Given the description of an element on the screen output the (x, y) to click on. 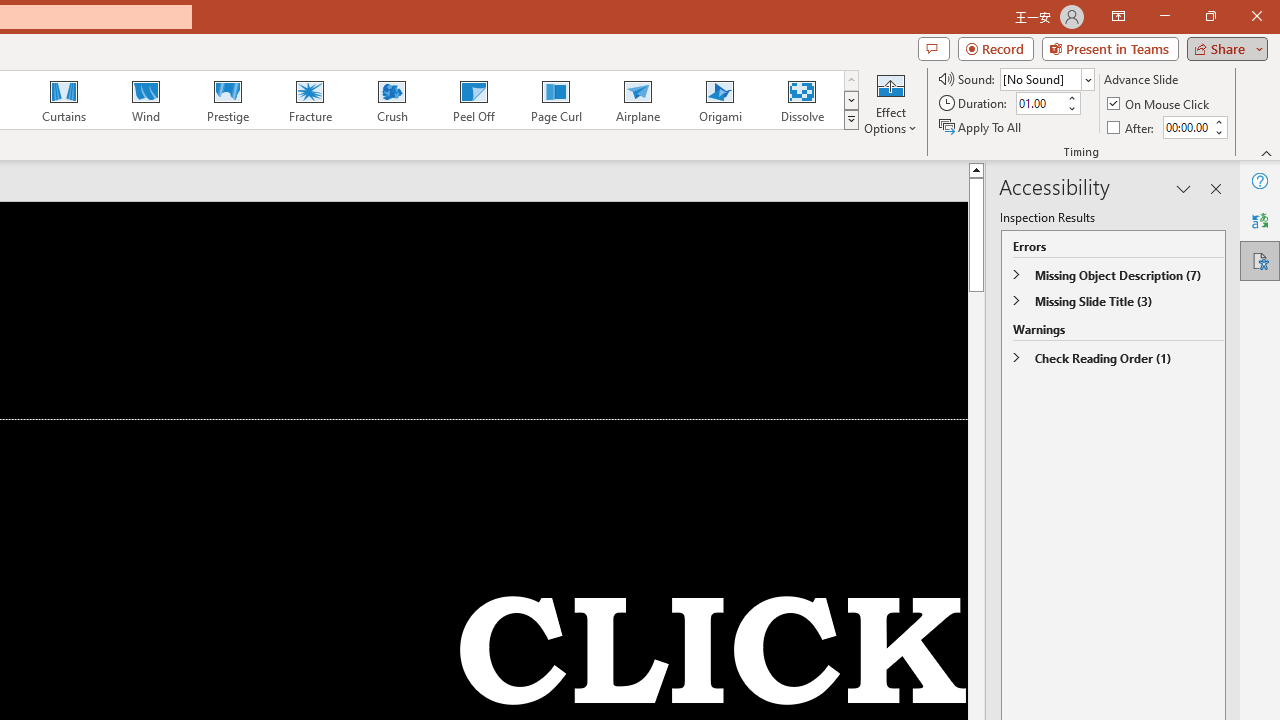
Origami (719, 100)
Page Curl (555, 100)
Wind (145, 100)
Apply To All (981, 126)
Effect Options (890, 102)
Airplane (637, 100)
After (1131, 126)
Sound (1046, 78)
